Given the description of an element on the screen output the (x, y) to click on. 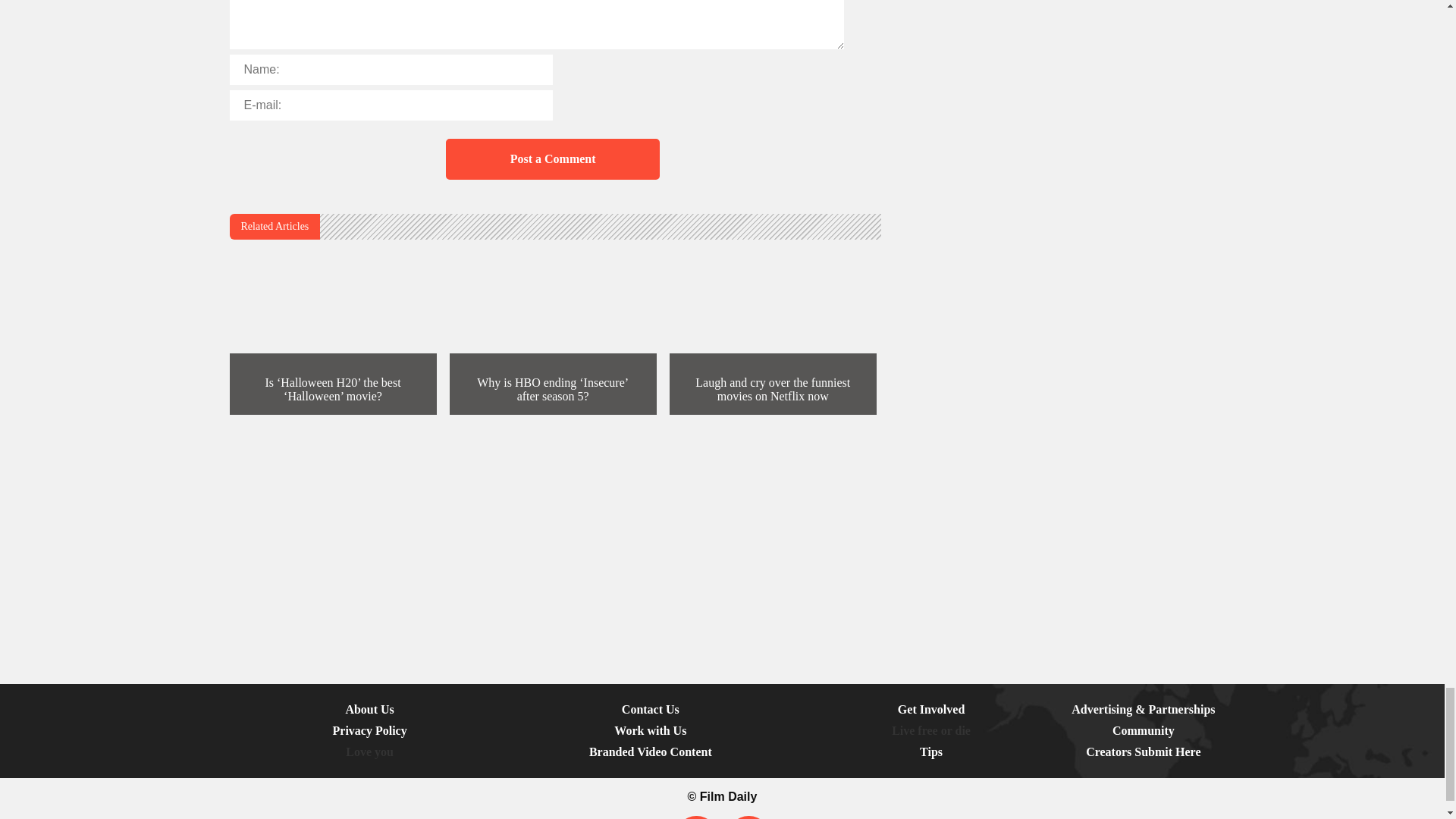
Post a Comment (552, 158)
